Given the description of an element on the screen output the (x, y) to click on. 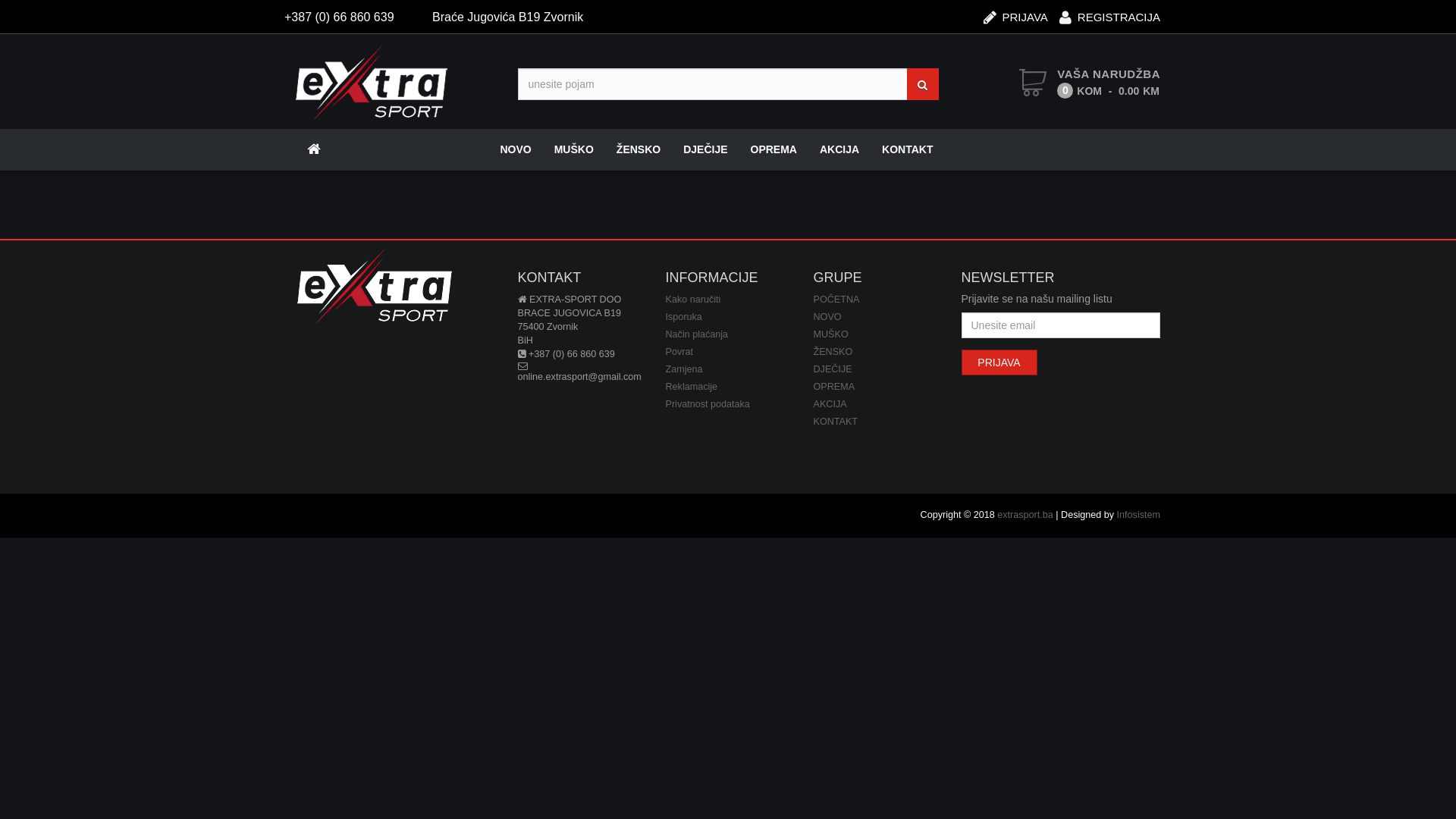
PRIJAVA Element type: text (999, 362)
OPREMA Element type: text (773, 148)
AKCIJA Element type: text (829, 403)
OPREMA Element type: text (833, 386)
KONTAKT Element type: text (907, 148)
Reklamacije Element type: text (691, 386)
Zamjena Element type: text (683, 369)
REGISTRACIJA Element type: text (1109, 12)
AKCIJA Element type: text (839, 148)
Infosistem Element type: text (1138, 514)
Isporuka Element type: text (683, 316)
NOVO Element type: text (826, 316)
X-SPORT Element type: hover (371, 82)
Privatnost podataka Element type: text (707, 403)
PRIJAVA Element type: text (1015, 12)
NOVO Element type: text (515, 148)
KONTAKT Element type: text (834, 421)
Povrat Element type: text (679, 351)
extrasport.ba Element type: text (1025, 514)
